Given the description of an element on the screen output the (x, y) to click on. 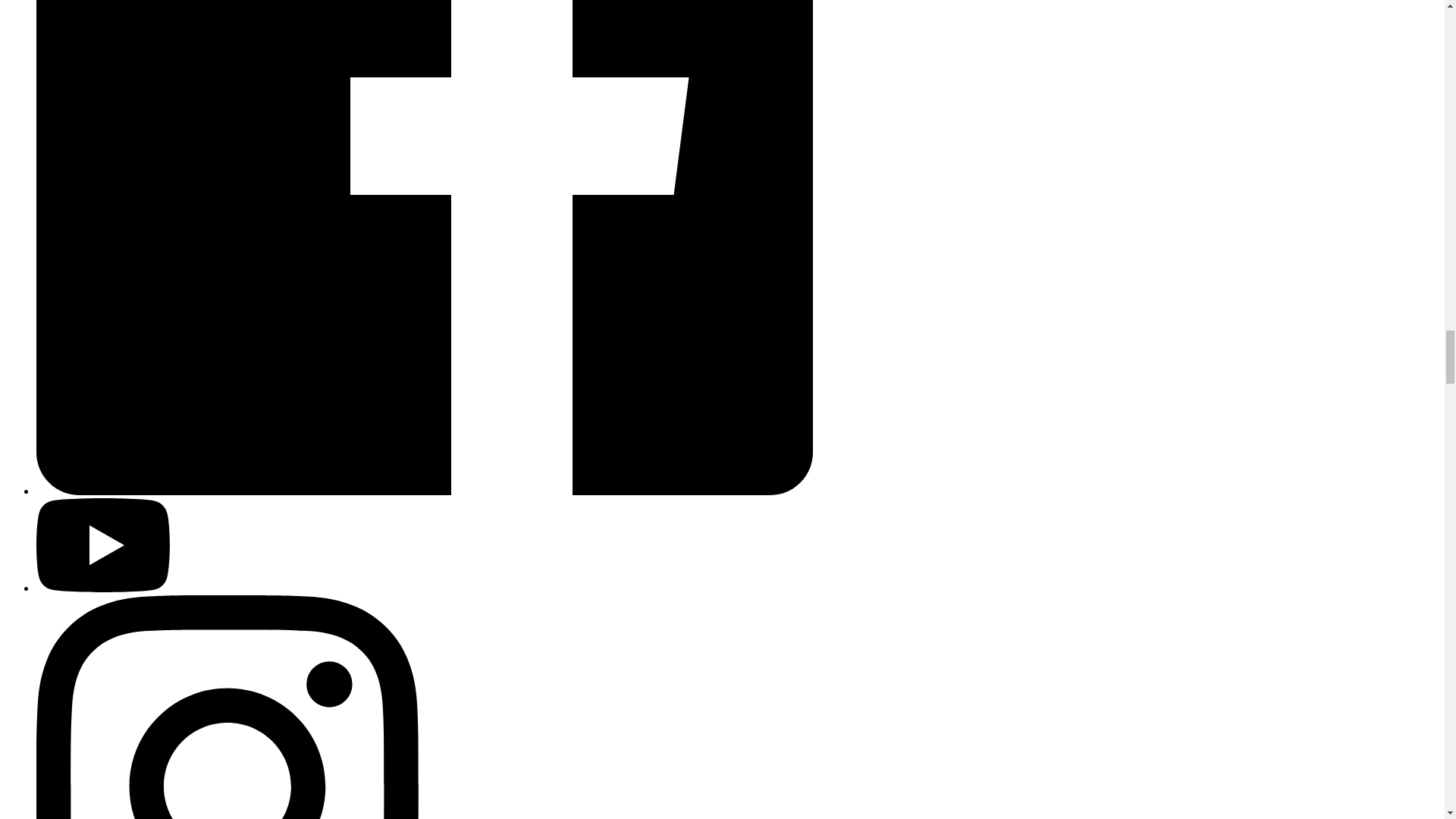
Facebook (424, 490)
Youtube (103, 587)
